Given the description of an element on the screen output the (x, y) to click on. 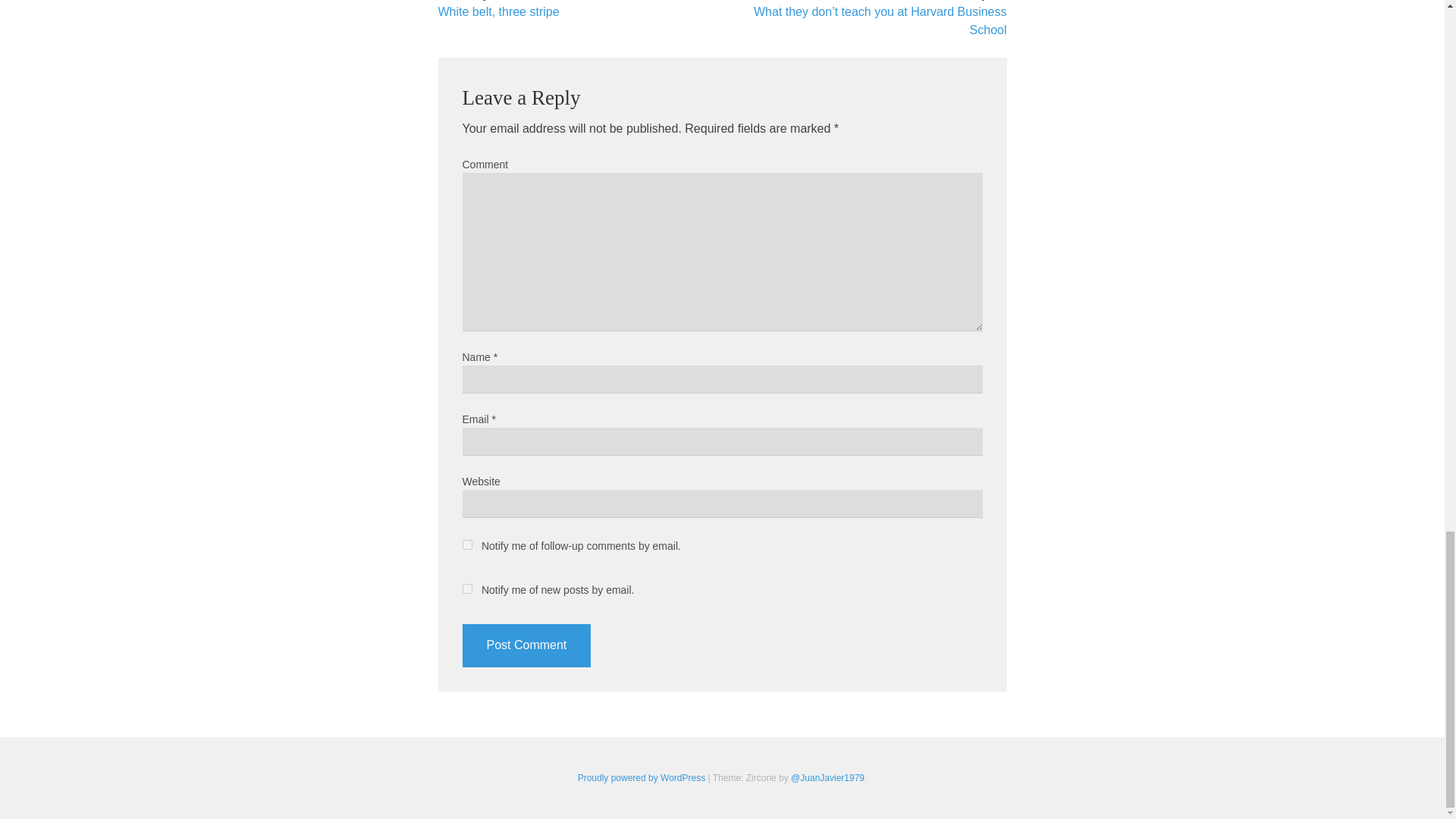
subscribe (467, 544)
Post Comment (527, 645)
subscribe (467, 588)
